Given the description of an element on the screen output the (x, y) to click on. 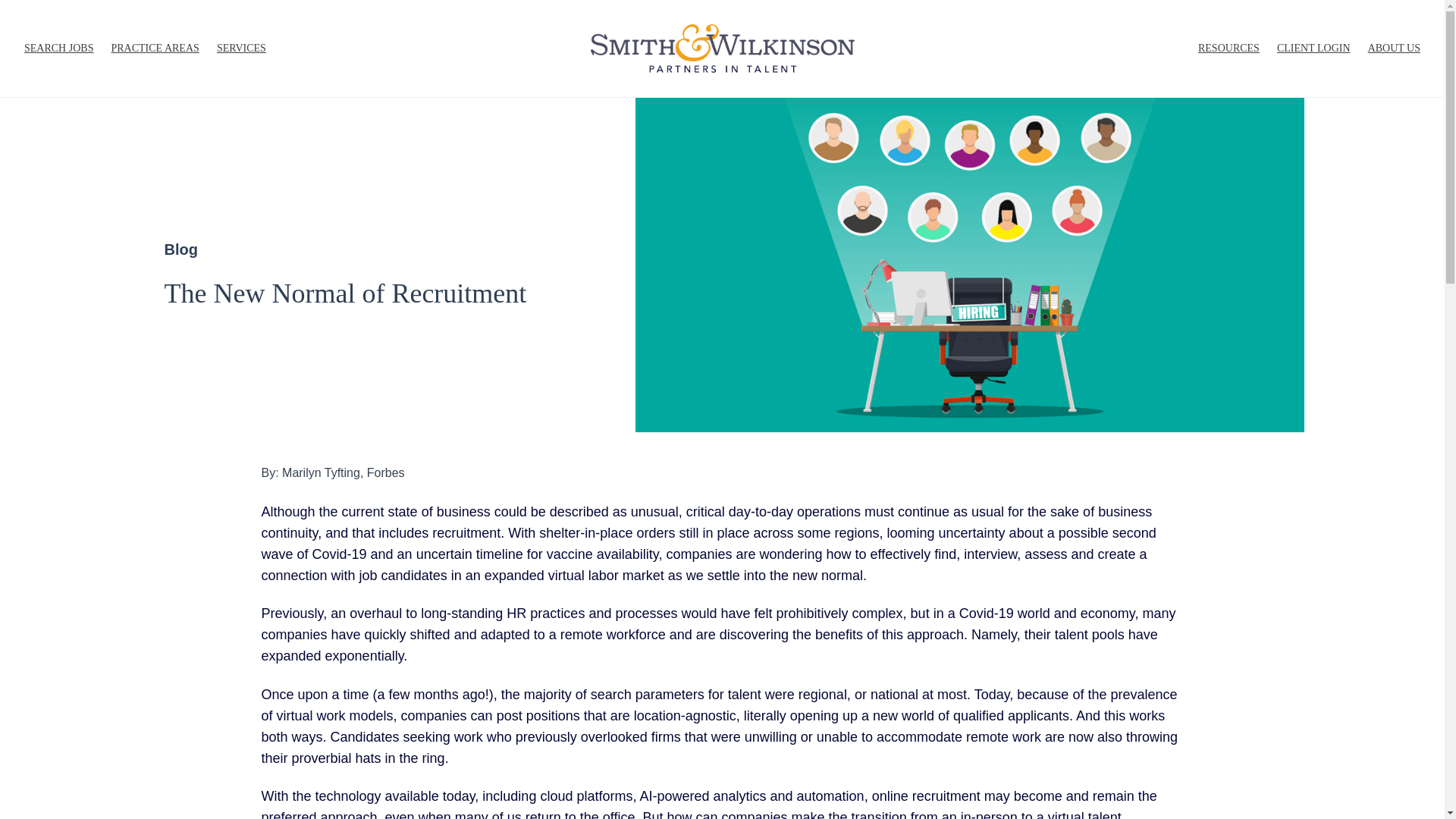
PRACTICE AREAS (154, 48)
SEARCH JOBS (58, 48)
SERVICES (241, 48)
RESOURCES (1228, 48)
CLIENT LOGIN (1313, 48)
ABOUT US (1394, 48)
